Given the description of an element on the screen output the (x, y) to click on. 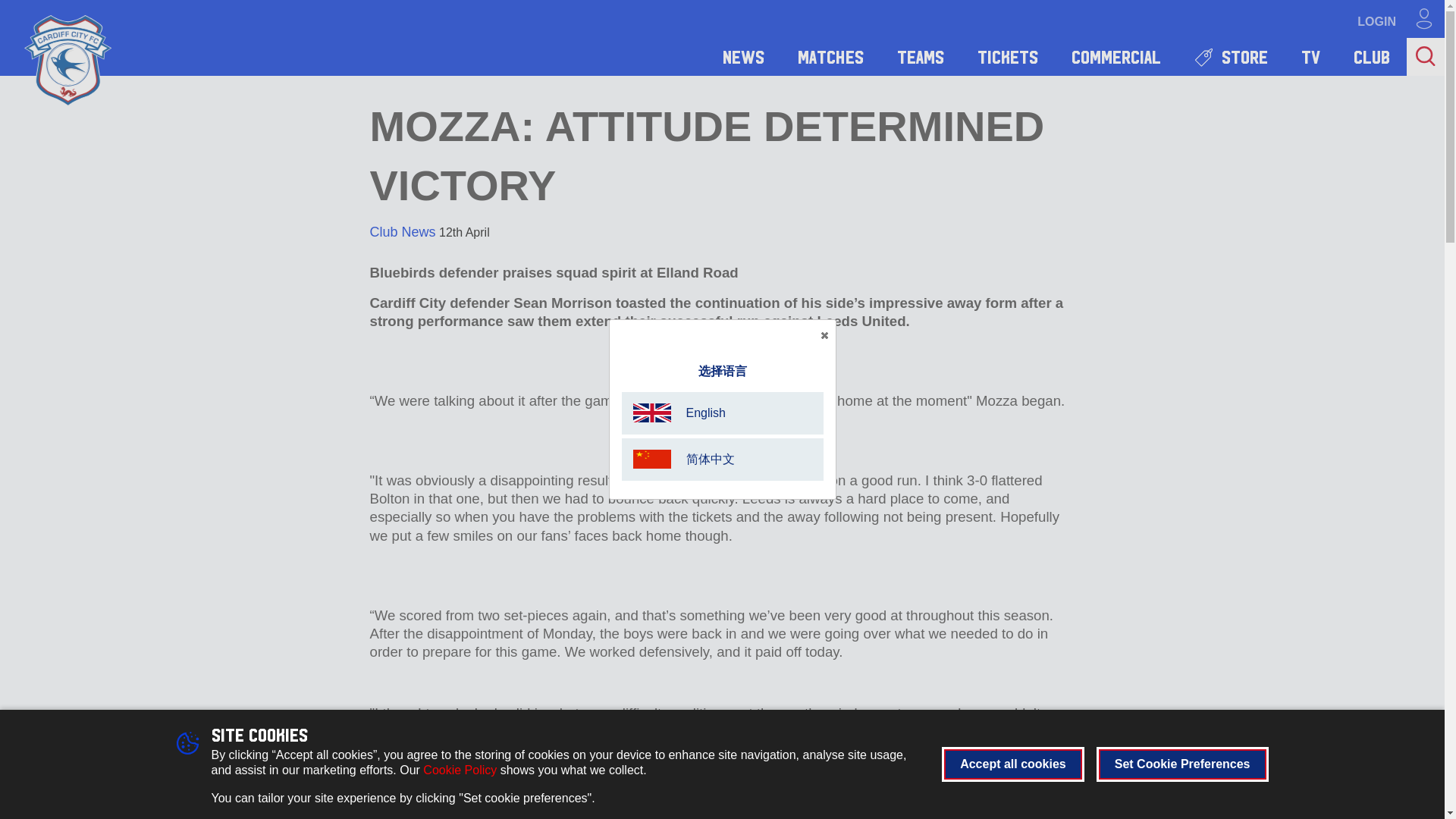
TEAMS (920, 56)
STORE (1230, 56)
MATCHES (830, 56)
NEWS (743, 56)
TICKETS (1007, 56)
Close (823, 335)
COMMERCIAL (1115, 56)
